Given the description of an element on the screen output the (x, y) to click on. 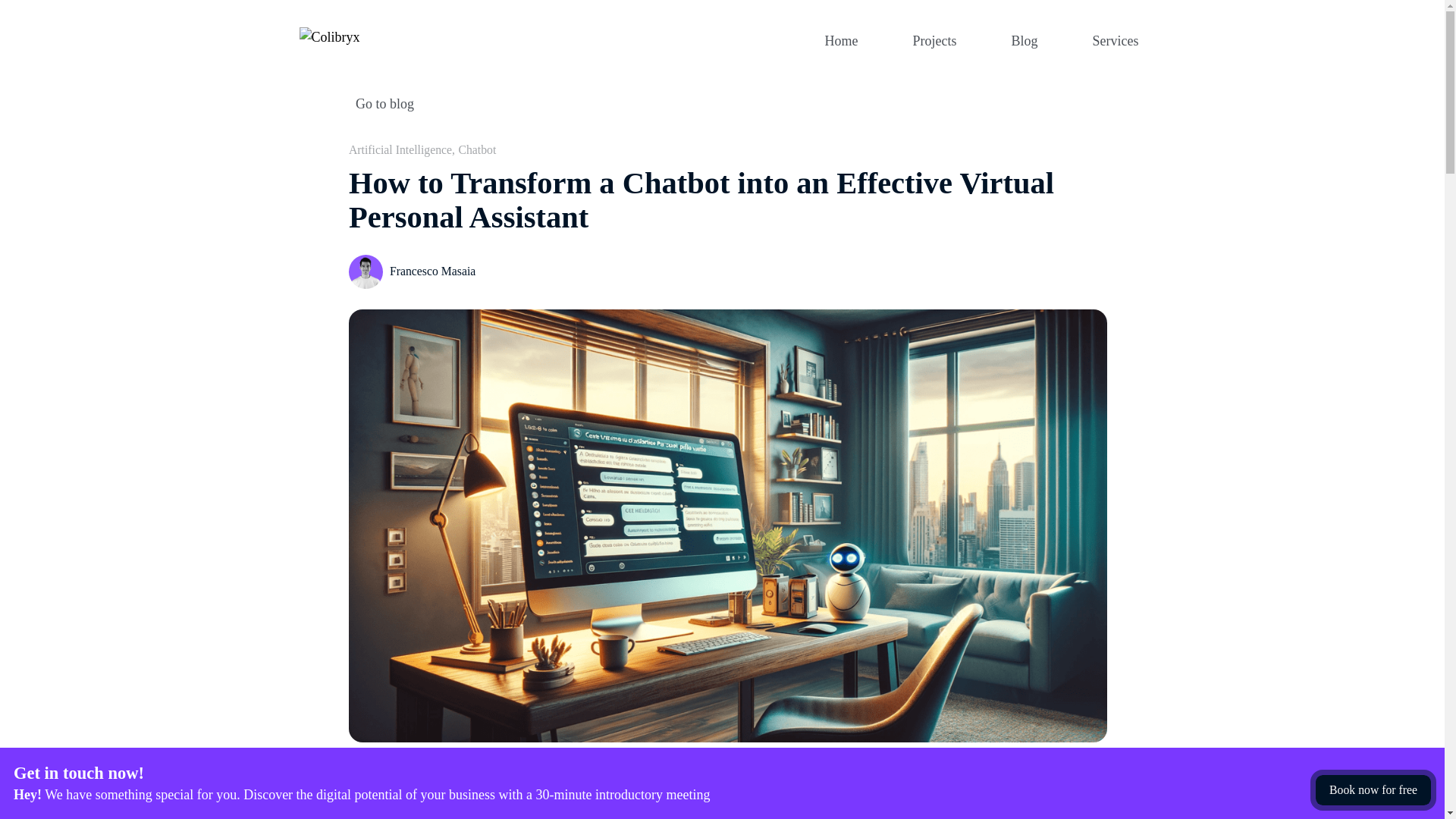
Chatbot (477, 149)
Book now for free (1373, 789)
Blog (727, 104)
Home (1024, 40)
Projects (1119, 40)
Artificial Intelligence (842, 40)
What is a Chatbot? (934, 40)
